Given the description of an element on the screen output the (x, y) to click on. 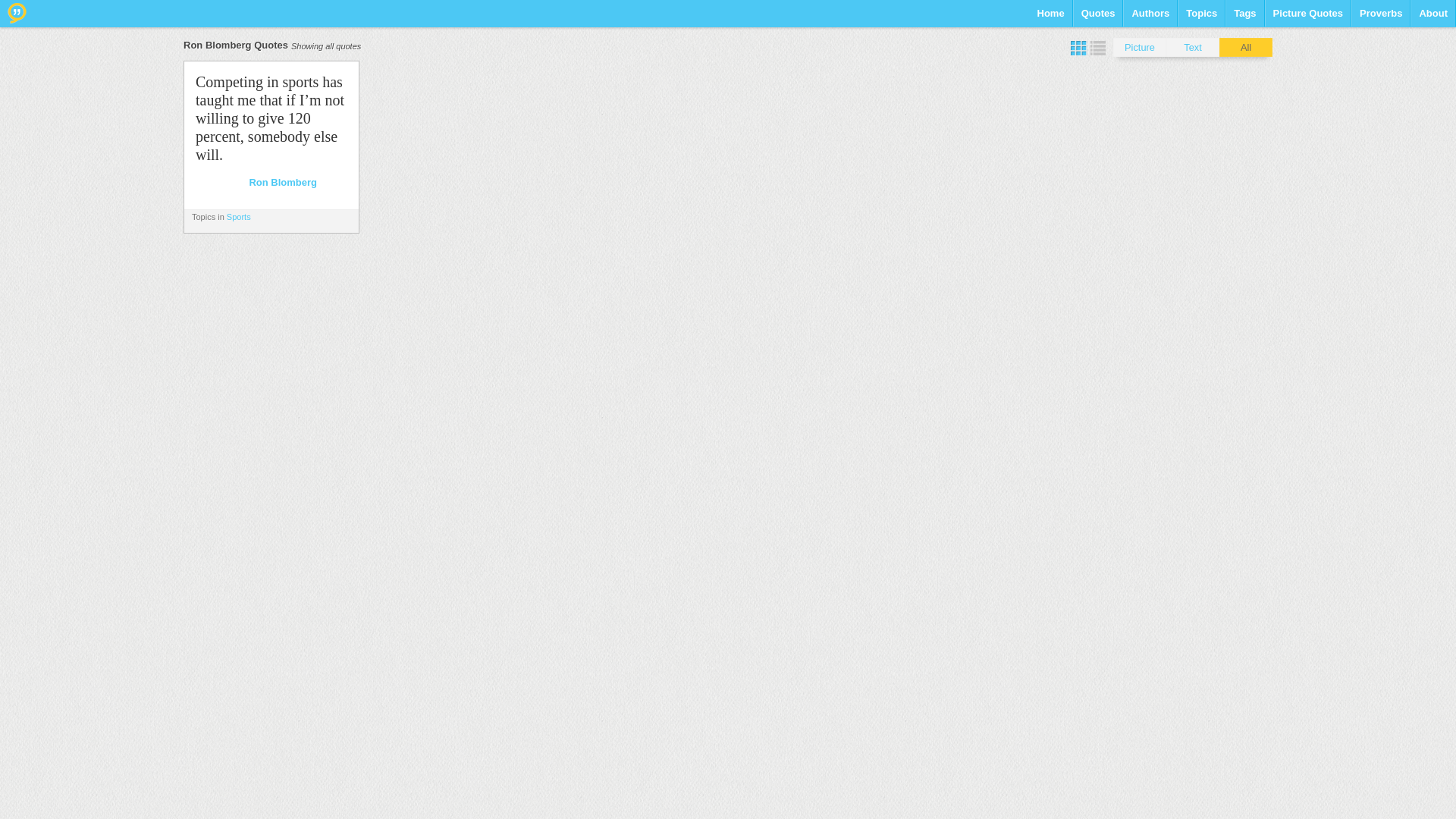
Quotes (1098, 18)
Topics (1201, 18)
Go to Home (16, 13)
Browse by Authors (1150, 18)
Authors (1150, 18)
Home (1050, 18)
Home (1050, 18)
Quotes (1098, 18)
